Given the description of an element on the screen output the (x, y) to click on. 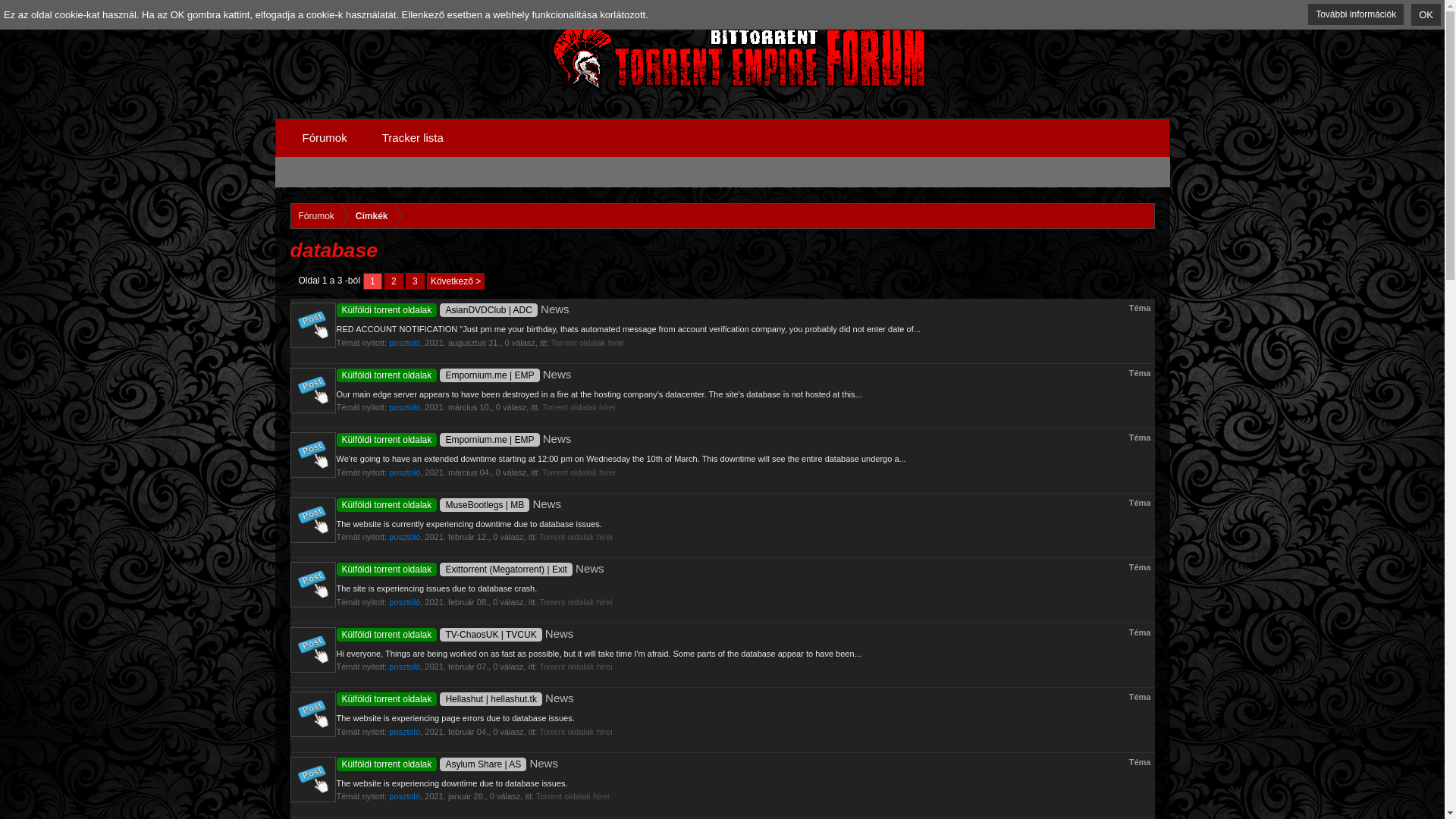
The site is experiencing issues due to database crash. (436, 587)
3 (415, 280)
2 (393, 280)
2021. augusztus 31.  08:13 -kor (462, 342)
1 (371, 280)
